Given the description of an element on the screen output the (x, y) to click on. 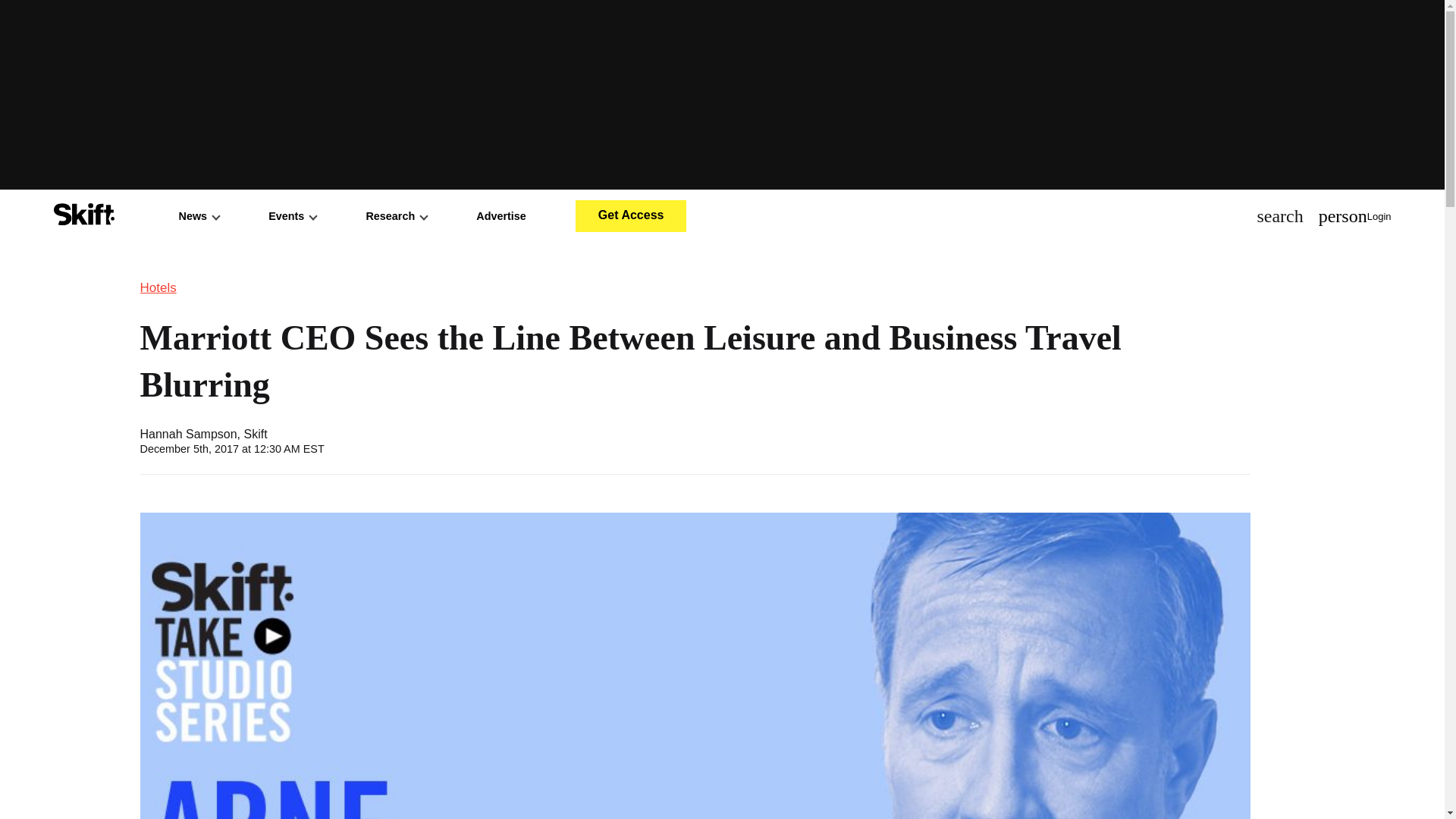
Research (395, 215)
Events (291, 215)
